Given the description of an element on the screen output the (x, y) to click on. 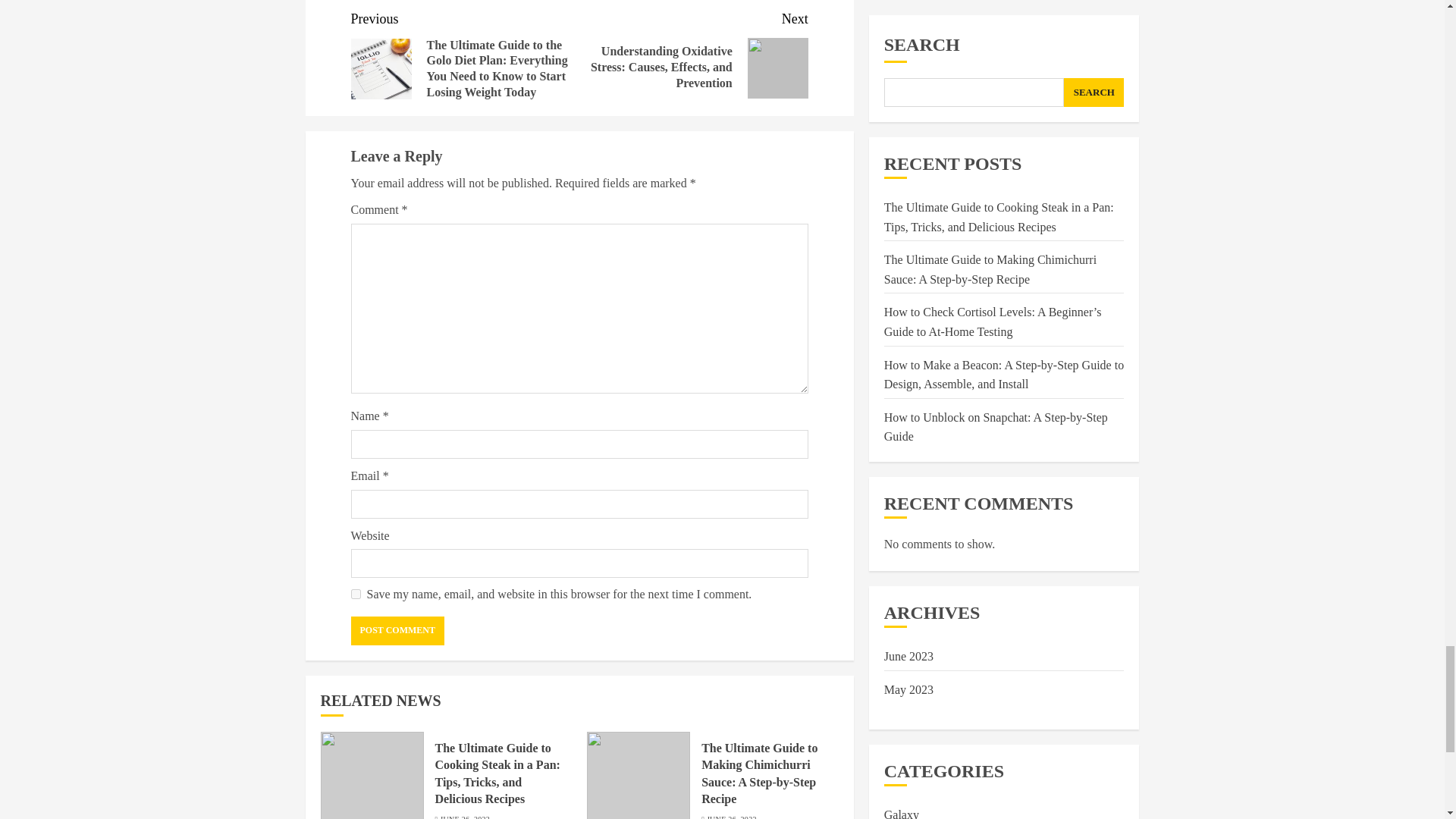
Post Comment (397, 630)
yes (354, 593)
Post Comment (397, 630)
JUNE 26, 2023 (464, 816)
JUNE 26, 2023 (731, 816)
